Given the description of an element on the screen output the (x, y) to click on. 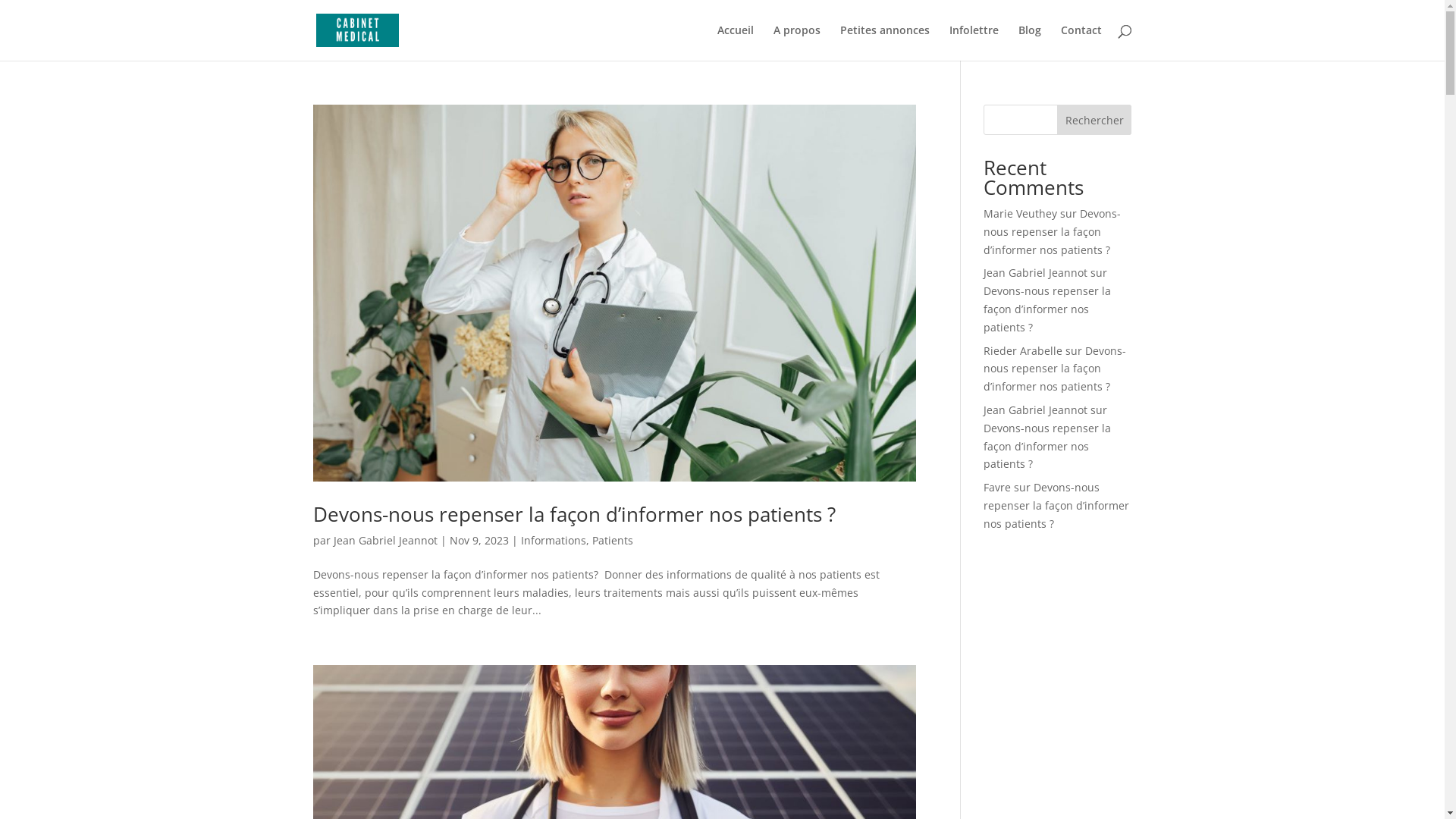
Infolettre Element type: text (973, 42)
Blog Element type: text (1028, 42)
Rechercher Element type: text (1094, 119)
Patients Element type: text (611, 540)
Jean Gabriel Jeannot Element type: text (385, 540)
Rieder Arabelle Element type: text (1022, 350)
Petites annonces Element type: text (884, 42)
Contact Element type: text (1080, 42)
Accueil Element type: text (735, 42)
Informations Element type: text (552, 540)
A propos Element type: text (796, 42)
Jean Gabriel Jeannot Element type: text (1035, 409)
Marie Veuthey Element type: text (1020, 213)
Jean Gabriel Jeannot Element type: text (1035, 272)
